Given the description of an element on the screen output the (x, y) to click on. 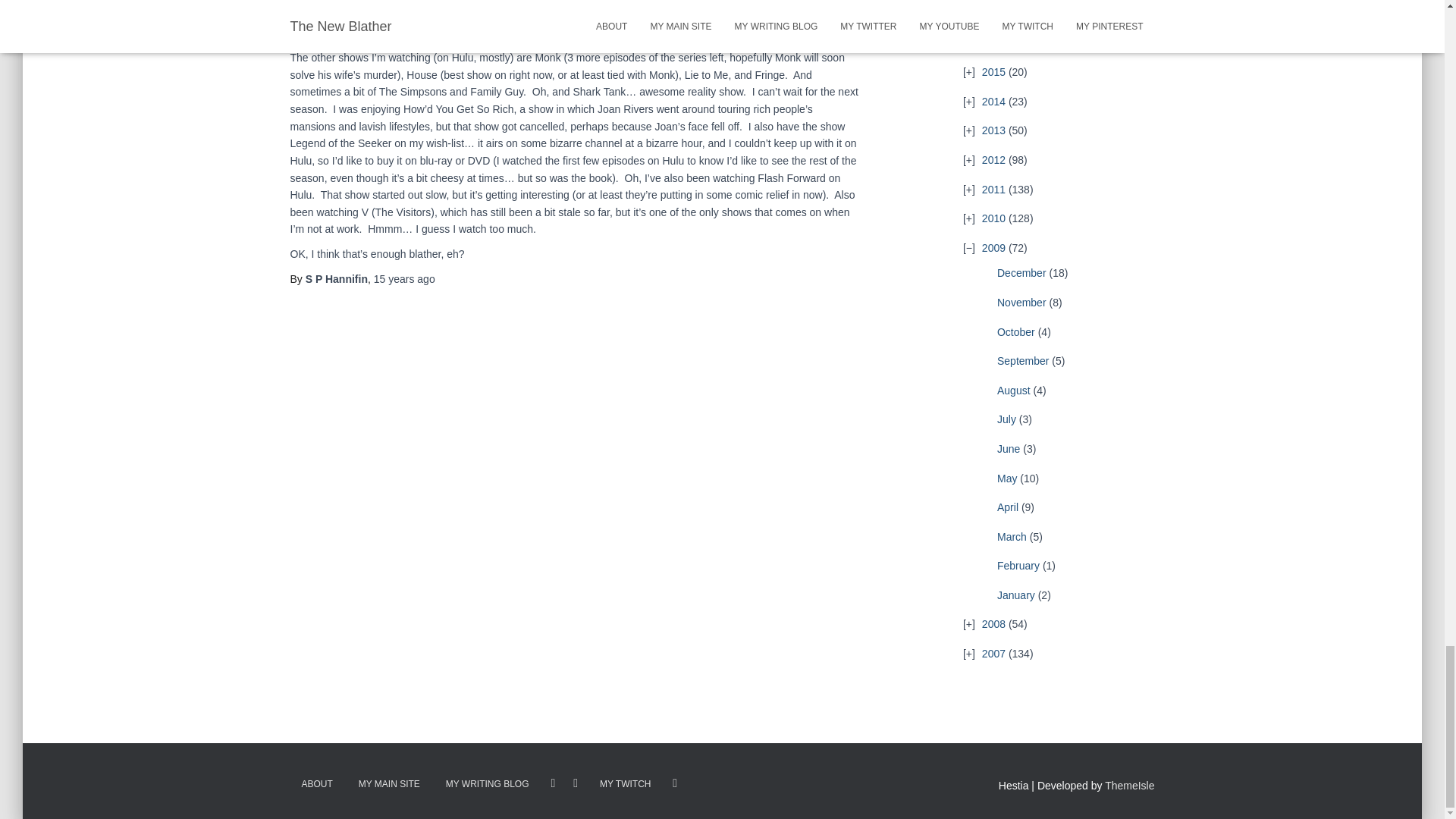
15 years ago (404, 278)
S P Hannifin (336, 278)
S P Hannifin (336, 278)
